Given the description of an element on the screen output the (x, y) to click on. 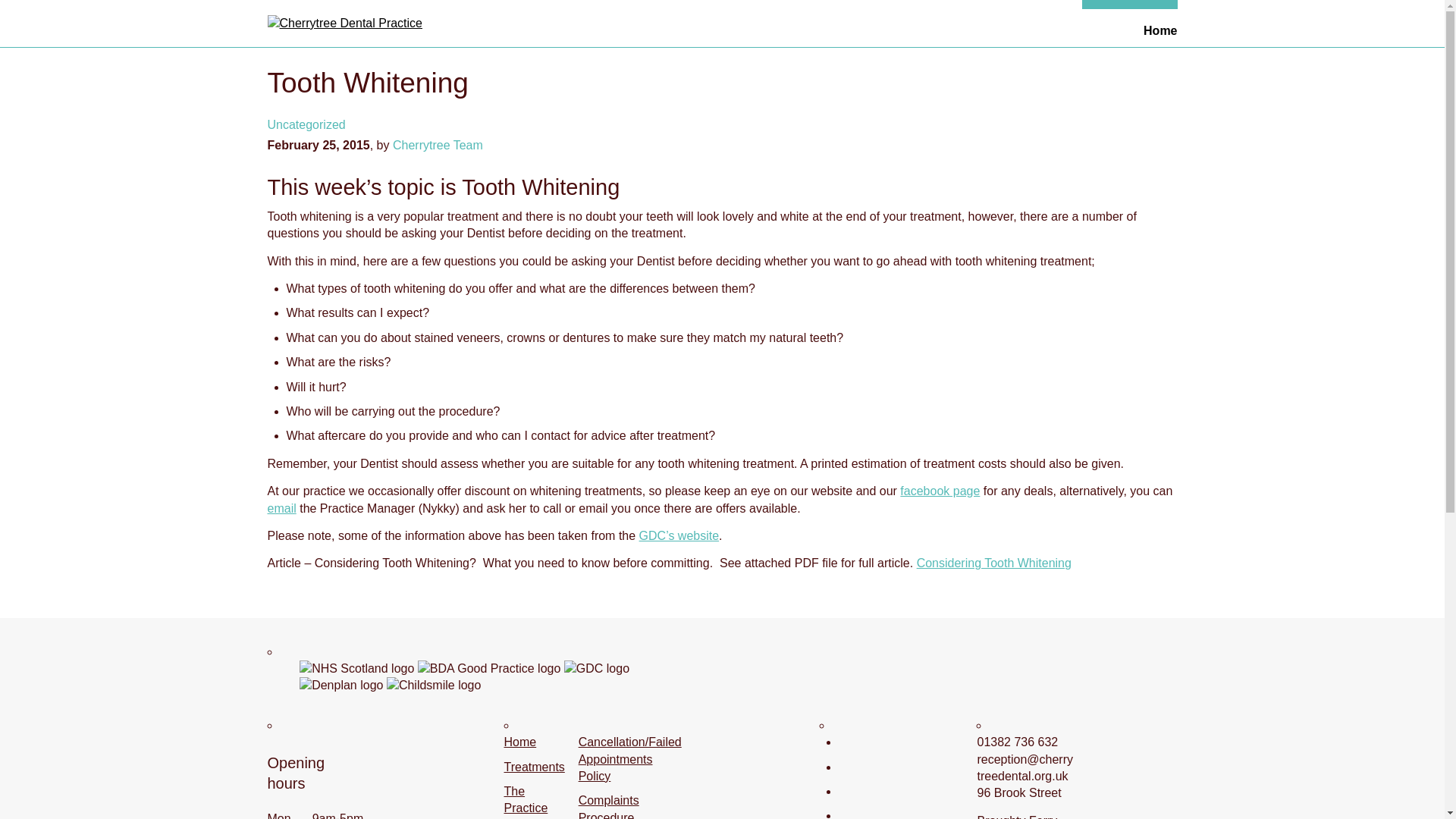
Treatments (844, 60)
Home (844, 30)
Contact us (844, 216)
News (844, 154)
The Practice (844, 92)
Find us (844, 185)
Our Team (844, 123)
Go to homepage (344, 22)
